Given the description of an element on the screen output the (x, y) to click on. 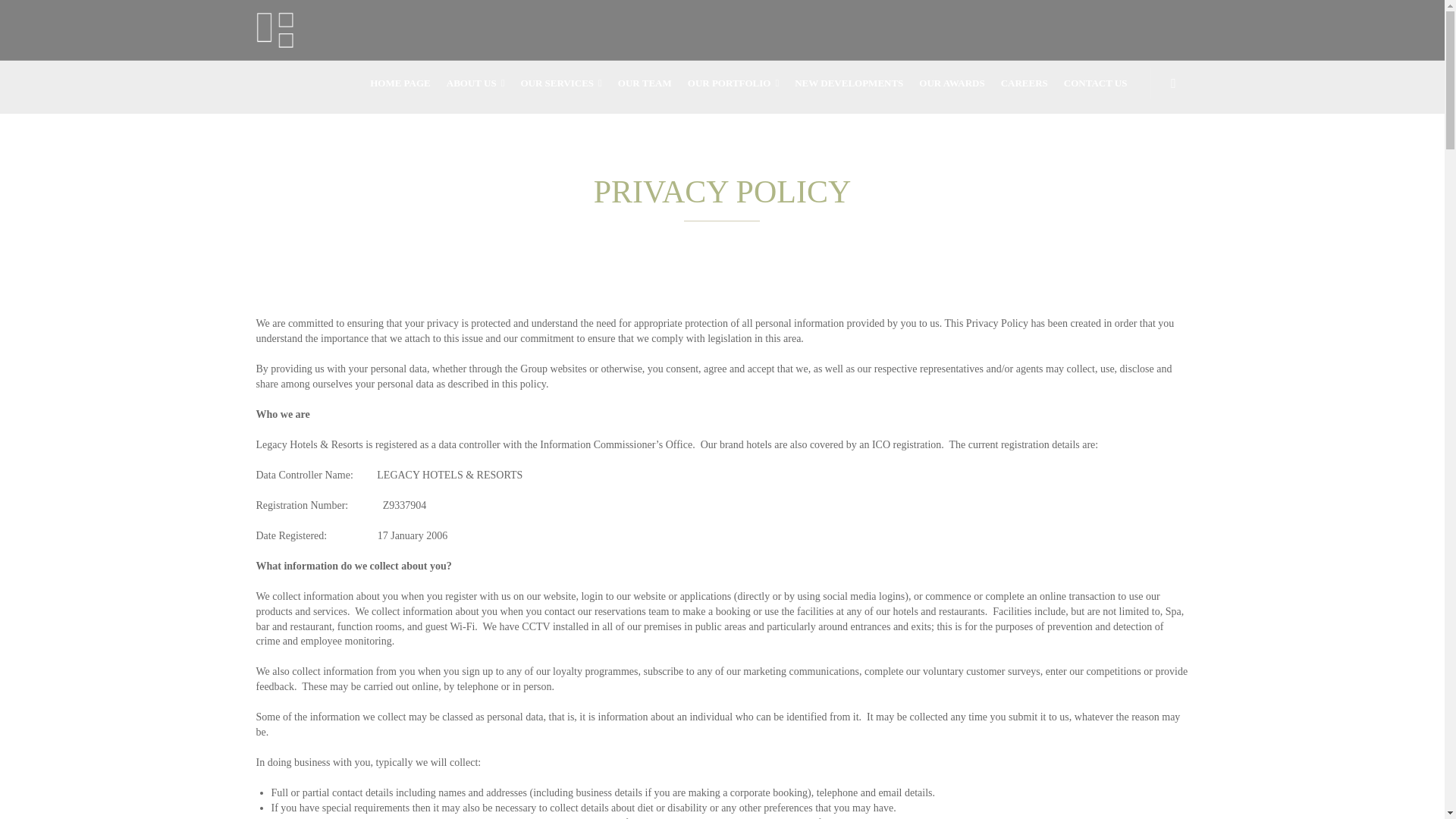
CAREERS (1024, 83)
ABOUT US (476, 83)
HOME PAGE (400, 83)
Legacy Hotel Management Services (275, 29)
OUR PORTFOLIO (733, 83)
OUR TEAM (644, 83)
OUR SERVICES (561, 83)
OUR AWARDS (951, 83)
NEW DEVELOPMENTS (849, 83)
CONTACT US (1096, 83)
